Given the description of an element on the screen output the (x, y) to click on. 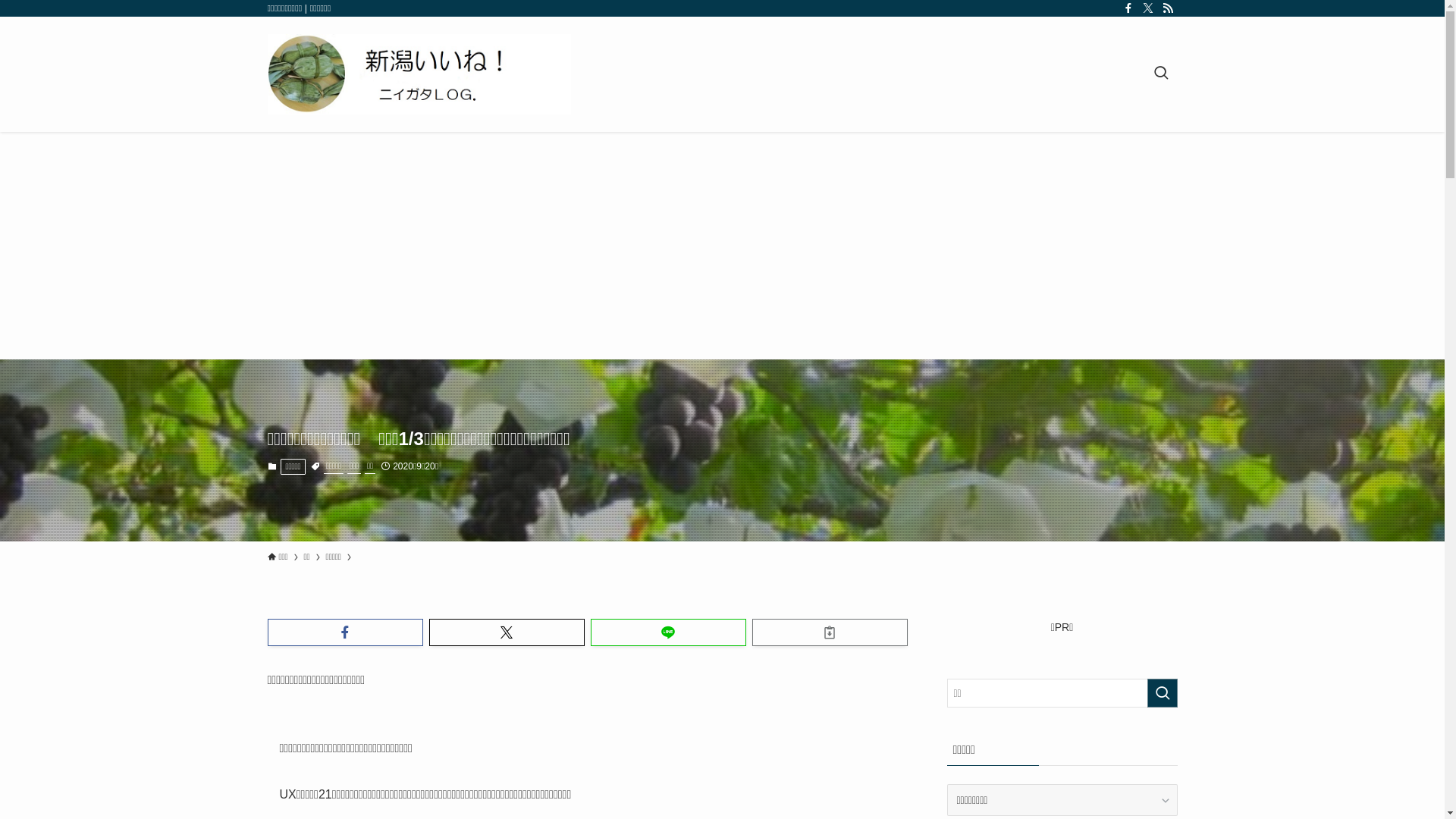
search Element type: text (1161, 692)
Advertisement Element type: hover (721, 245)
search Element type: text (921, 421)
